Given the description of an element on the screen output the (x, y) to click on. 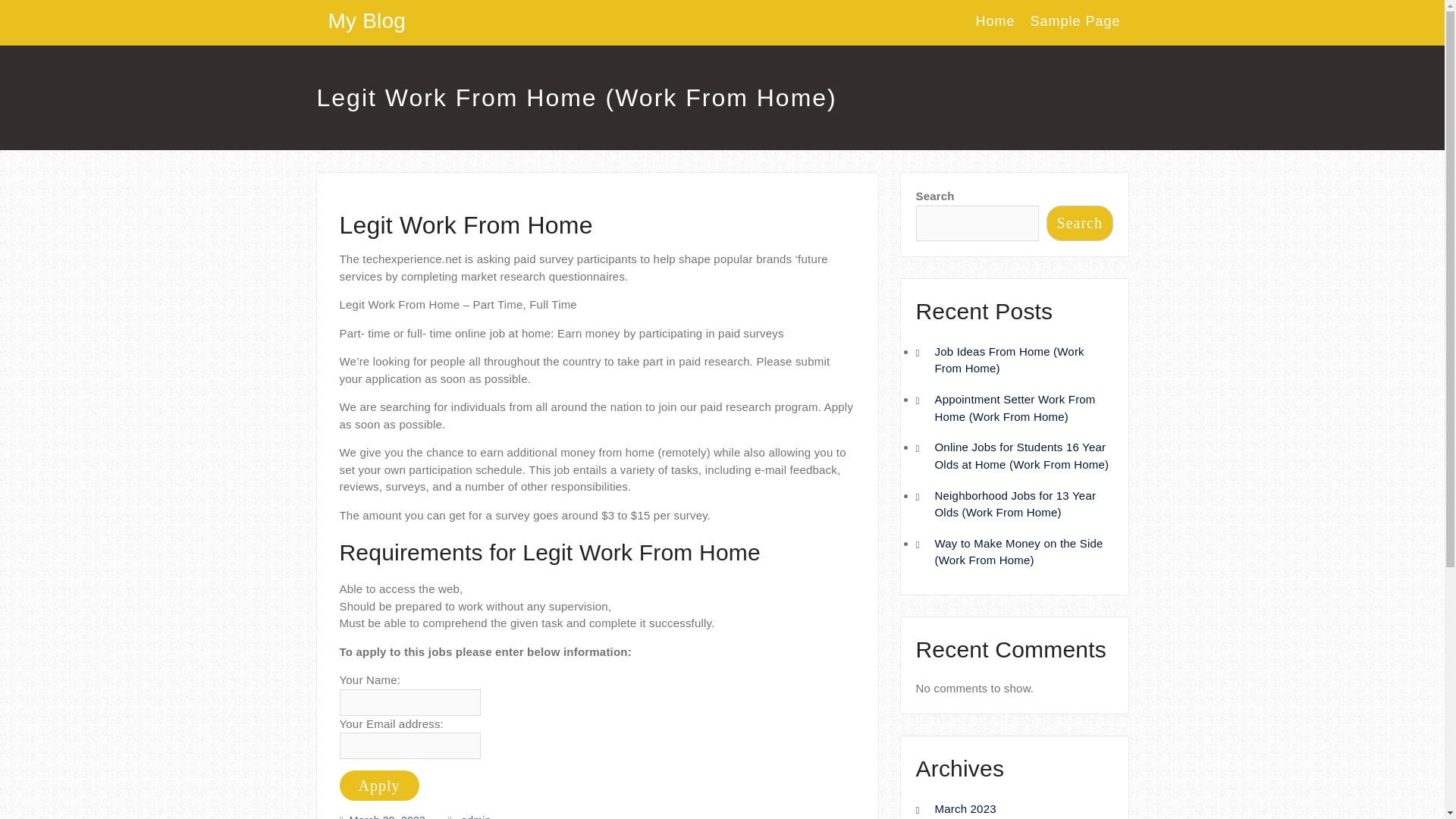
Home (994, 25)
admin (475, 816)
March 29, 2023 (387, 816)
My Blog (366, 20)
Search (1079, 222)
March 2023 (964, 808)
Sample Page (1074, 25)
Apply (379, 785)
Apply (379, 785)
